Given the description of an element on the screen output the (x, y) to click on. 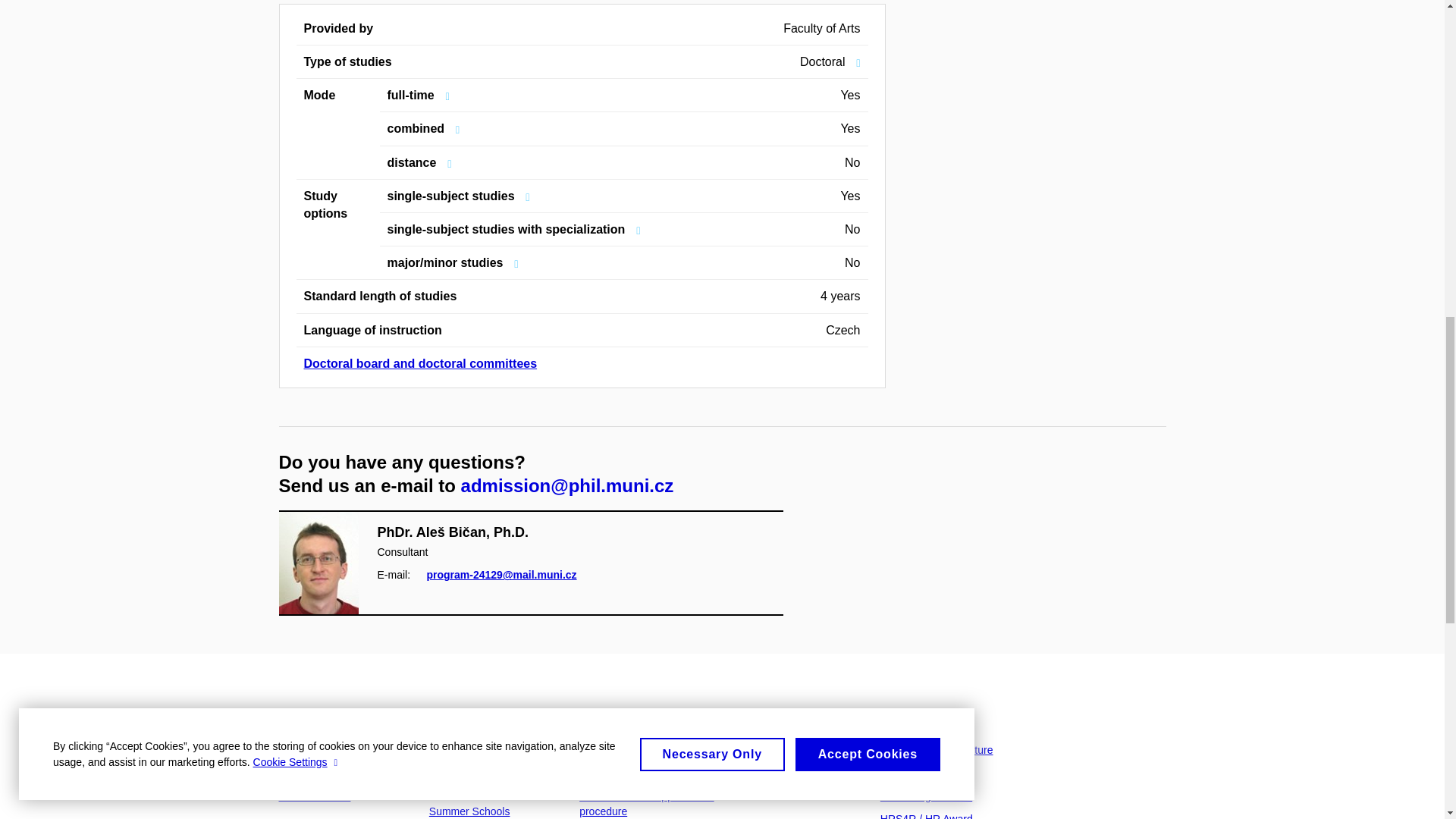
For applicants (475, 714)
Habilitation and appointment procedure (646, 803)
Study programmes in English (479, 757)
Exchange students (474, 788)
Summer Schools (470, 811)
Research (609, 714)
All articles (303, 772)
Current projects (617, 772)
News (296, 714)
Research (601, 749)
All events (301, 749)
Media relations (314, 796)
